Given the description of an element on the screen output the (x, y) to click on. 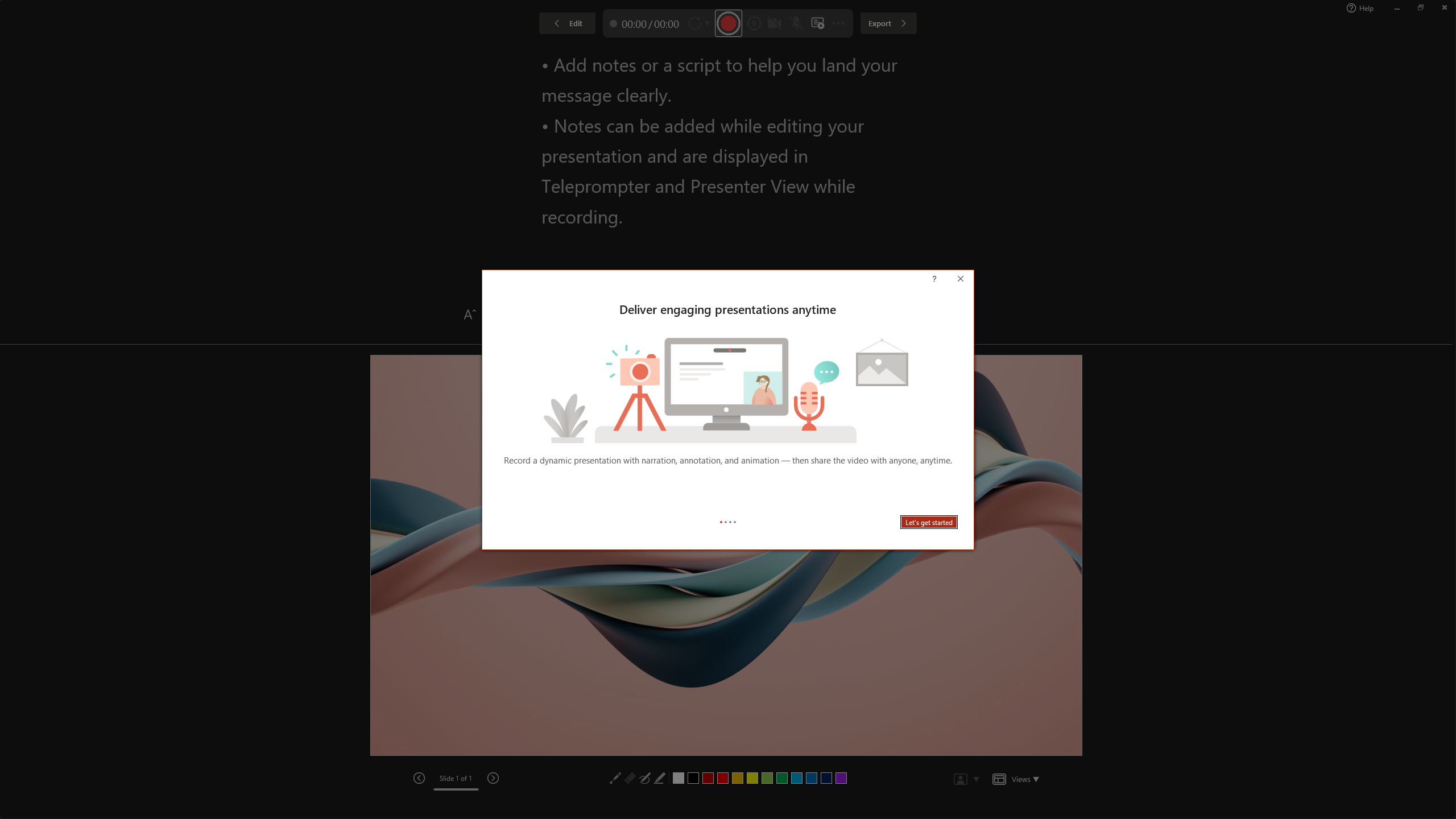
Picture Format (475, 28)
Facet (138, 56)
